Given the description of an element on the screen output the (x, y) to click on. 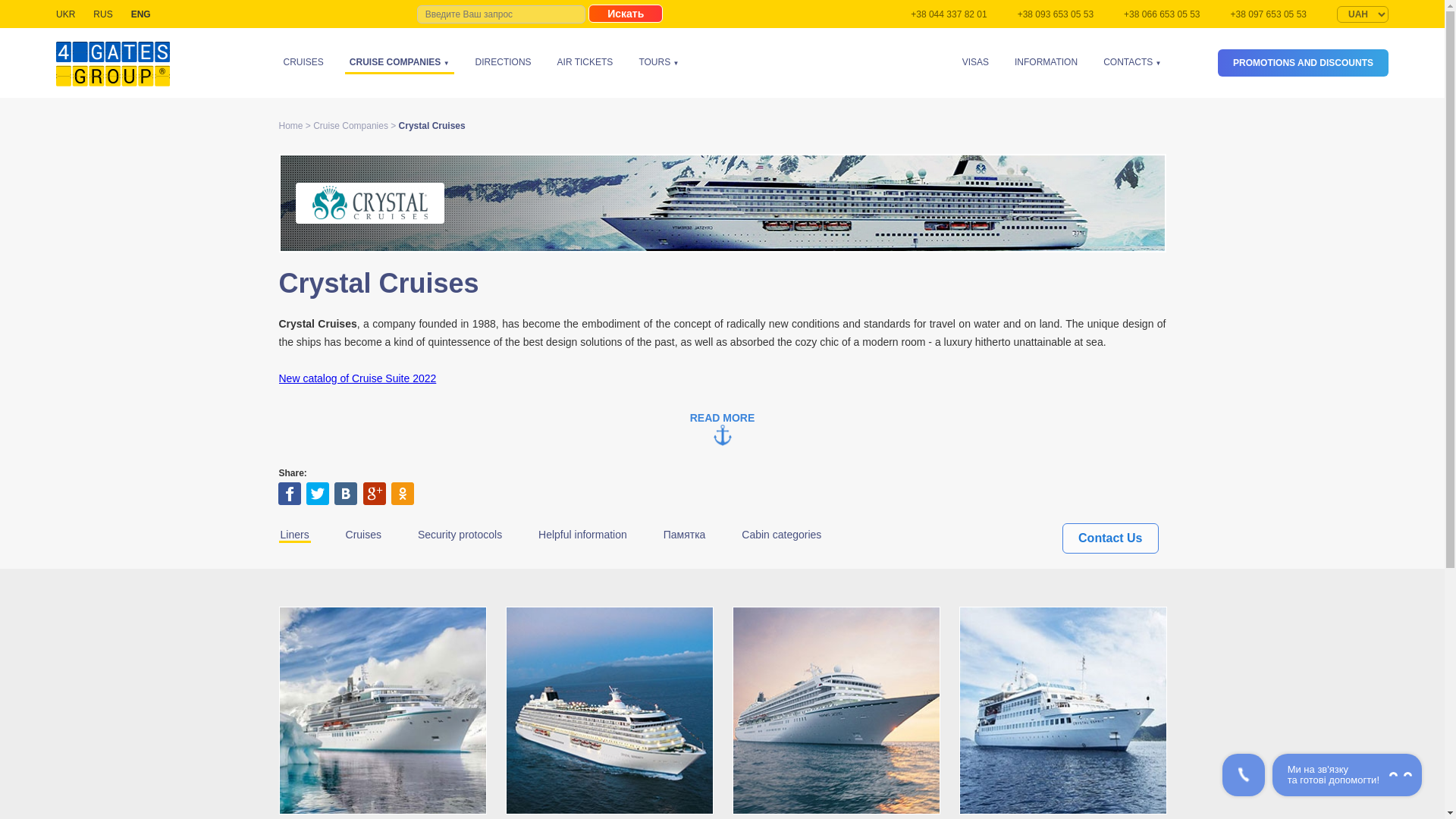
RUS (102, 14)
val (1362, 13)
CRUISES (304, 61)
UKR (65, 14)
